Given the description of an element on the screen output the (x, y) to click on. 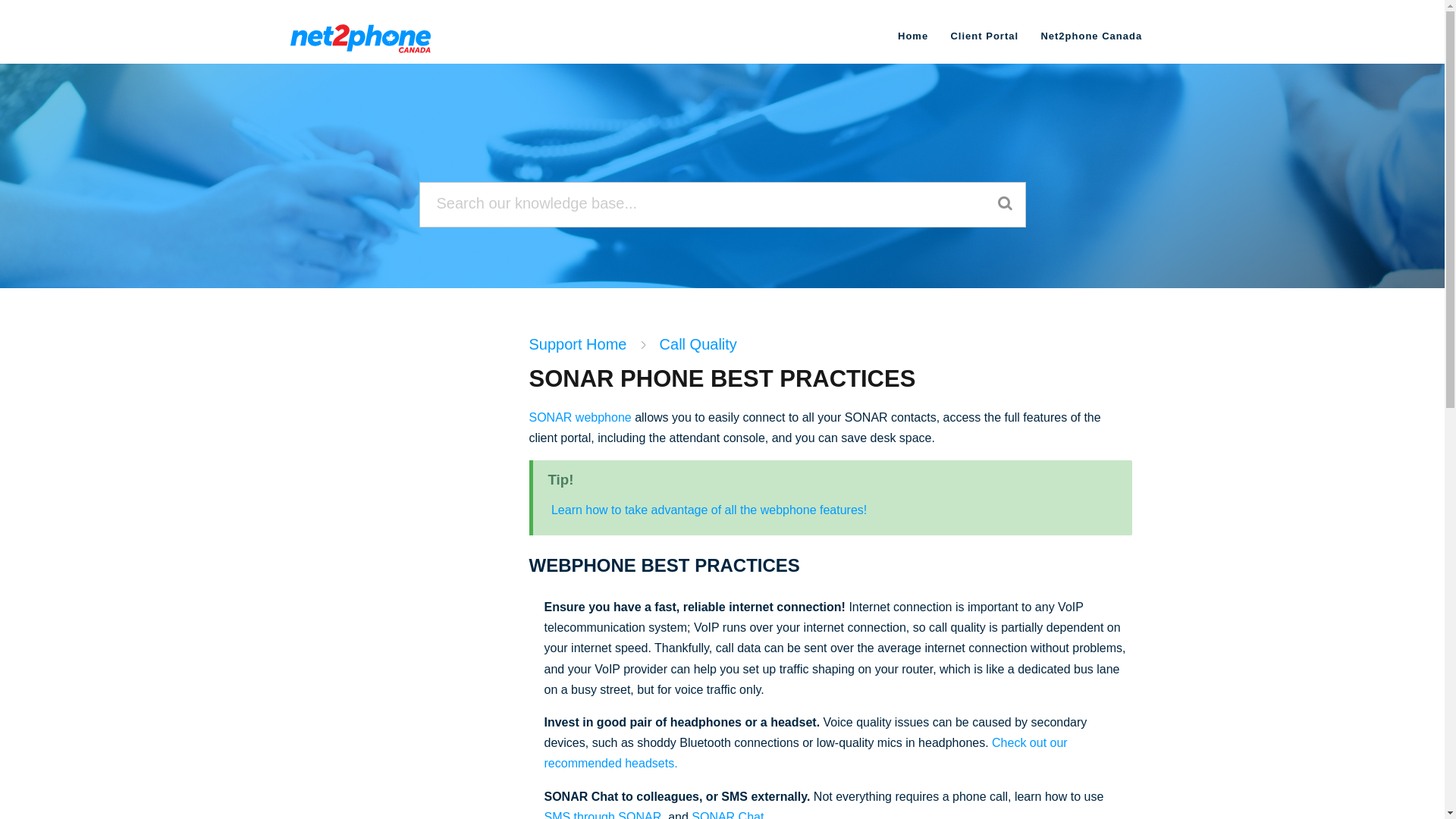
Learn how to take advantage of all the webphone features! (708, 509)
SONAR webphone (580, 417)
Call Quality (697, 344)
Net2phone Canada (1090, 36)
Home (912, 36)
Check out our recommended headsets. (805, 752)
SMS through SONAR (603, 814)
Client Portal (983, 36)
Support Home (578, 344)
SONAR Chat (726, 814)
